Given the description of an element on the screen output the (x, y) to click on. 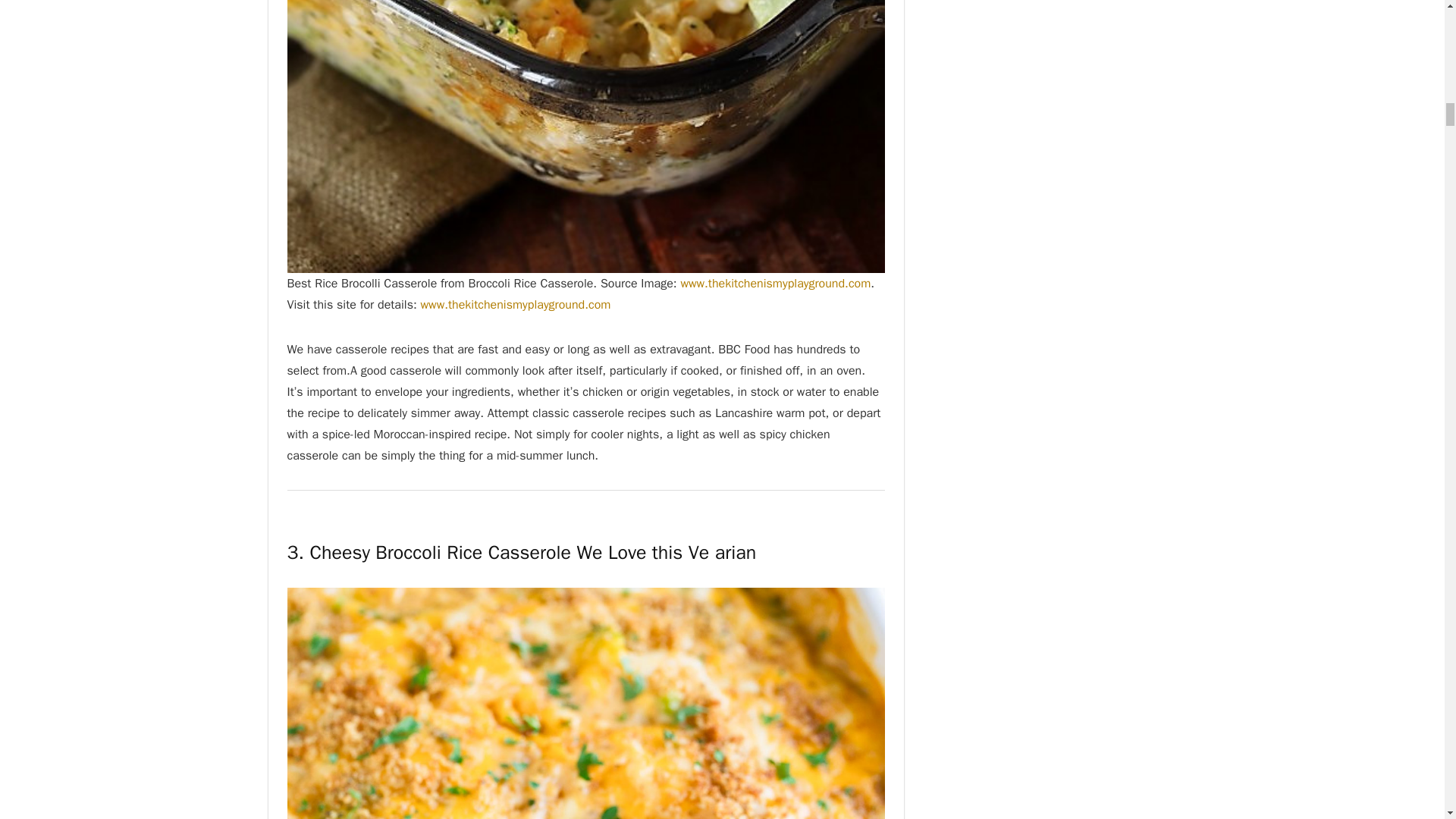
www.thekitchenismyplayground.com (774, 283)
www.thekitchenismyplayground.com (515, 304)
